Given the description of an element on the screen output the (x, y) to click on. 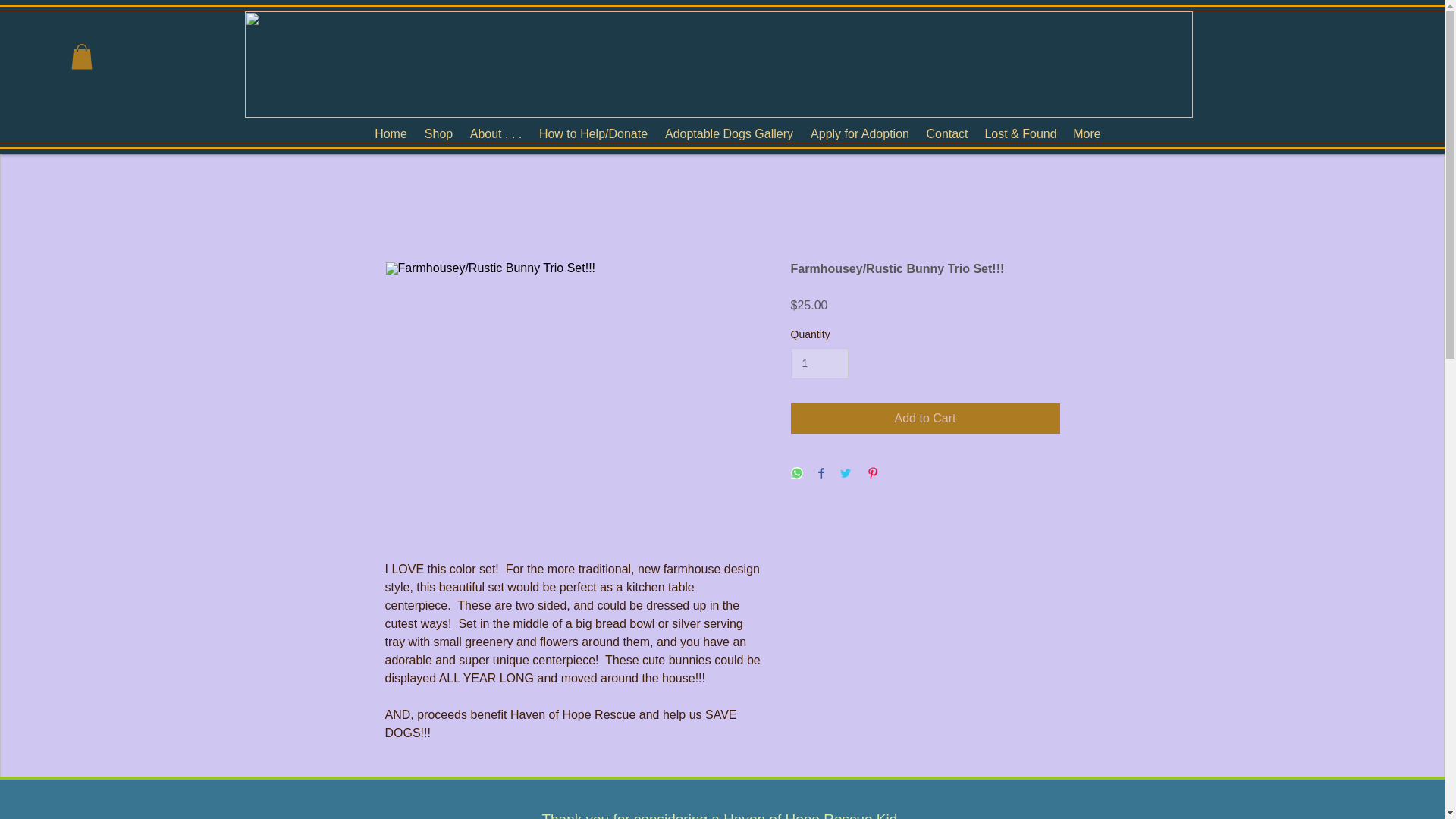
Add to Cart (924, 418)
Adoptable Dogs Gallery (729, 134)
Home (389, 134)
1 (818, 363)
Contact (946, 134)
About . . . (495, 134)
Shop (437, 134)
Apply for Adoption (860, 134)
